Given the description of an element on the screen output the (x, y) to click on. 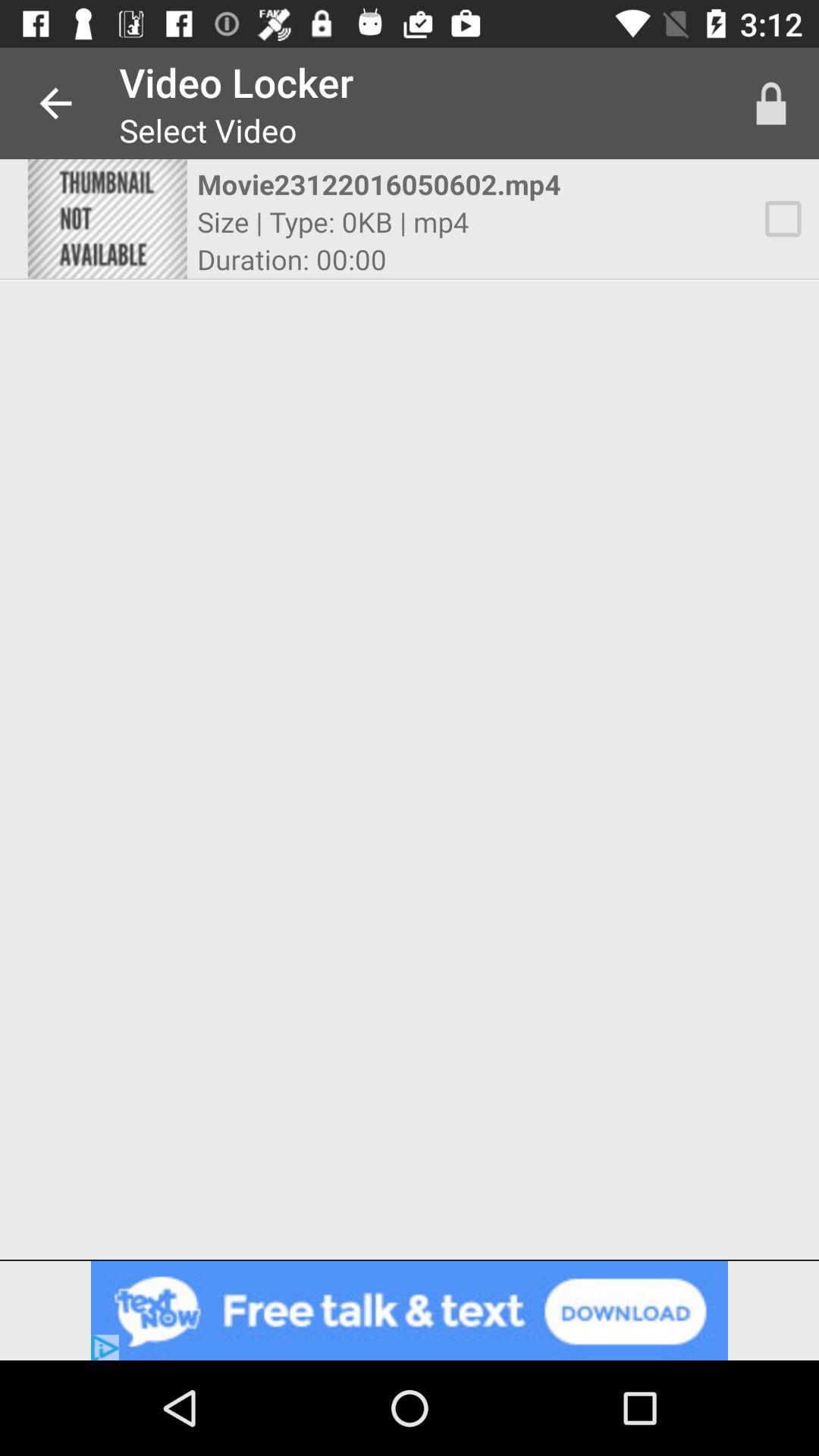
open the item to the left of movie23122016050602.mp4 item (107, 218)
